Given the description of an element on the screen output the (x, y) to click on. 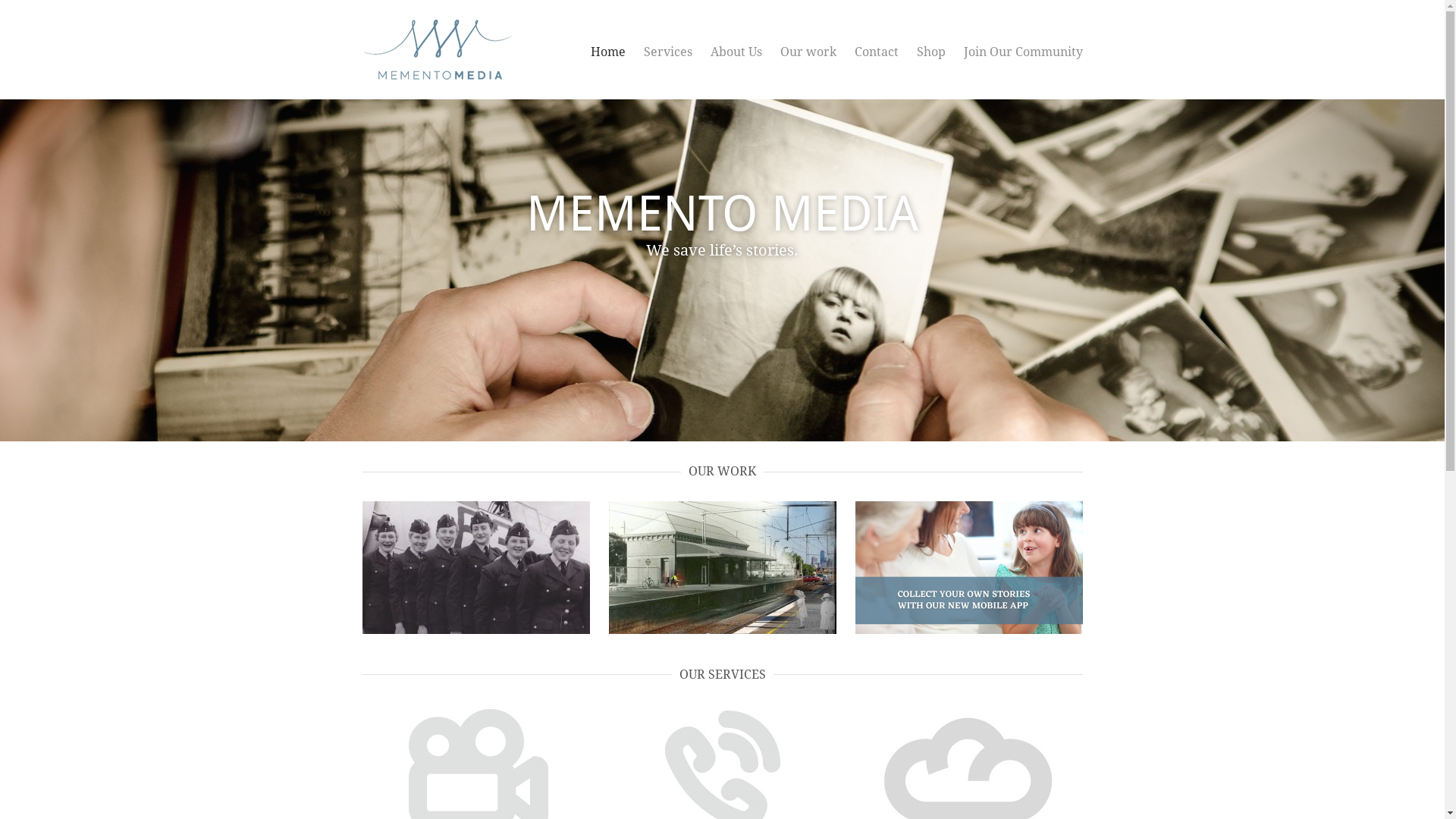
Shop Element type: text (930, 51)
ReCollection Element type: hover (721, 567)
Services Element type: text (667, 51)
Join Our Community Element type: text (968, 567)
Our work Element type: text (807, 51)
Join Our Community Element type: text (1022, 51)
ReCollection Element type: text (721, 567)
Join Our Community Element type: hover (968, 567)
About Us Element type: text (735, 51)
Home Element type: text (606, 51)
Contact Element type: text (875, 51)
